Given the description of an element on the screen output the (x, y) to click on. 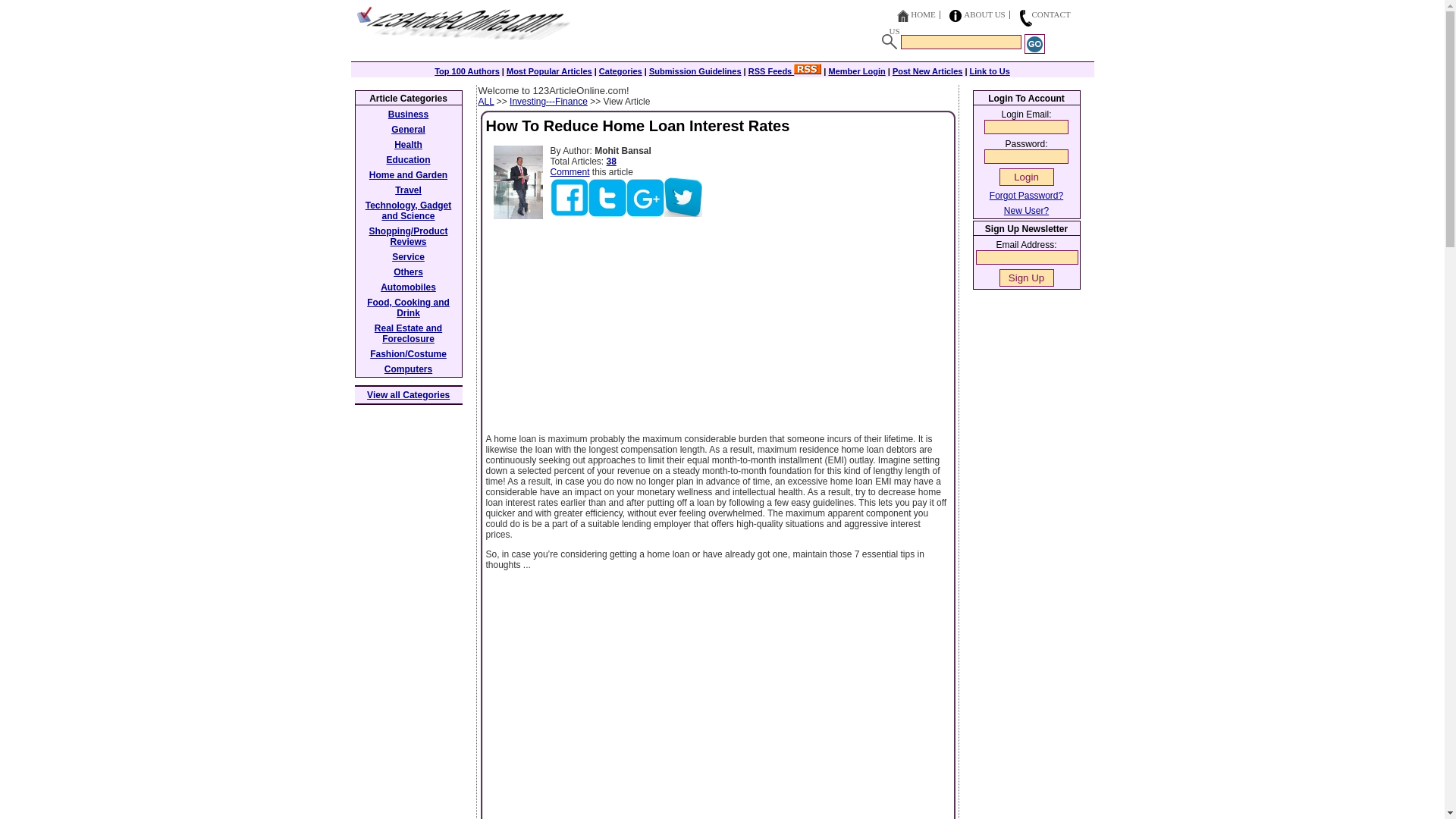
Categories (620, 71)
Submission Guidelines (695, 71)
Most Popular Articles (549, 71)
38 (611, 161)
ALL (485, 101)
Comment (569, 172)
Top 100 Authors (466, 71)
Investing---Finance (548, 101)
